Given the description of an element on the screen output the (x, y) to click on. 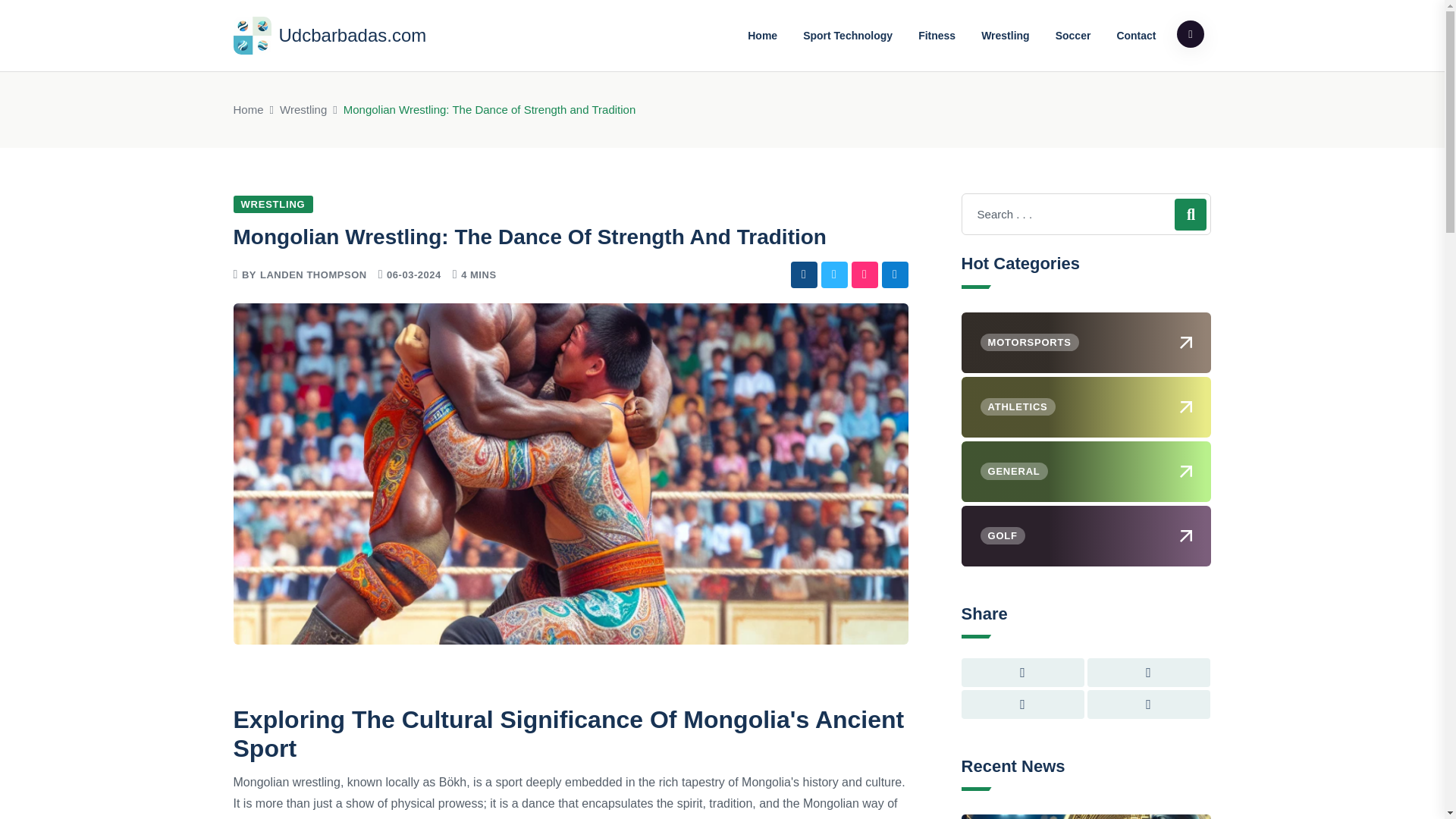
MOTORSPORTS (1085, 342)
Home (247, 109)
Wrestling (302, 109)
Wrestling (1005, 35)
ATHLETICS (1085, 406)
GENERAL (1085, 471)
Sport Technology (847, 35)
Contact (1136, 35)
LANDEN THOMPSON (313, 274)
Udcbarbadas.com (329, 35)
GOLF (1085, 536)
WRESTLING (272, 203)
